Given the description of an element on the screen output the (x, y) to click on. 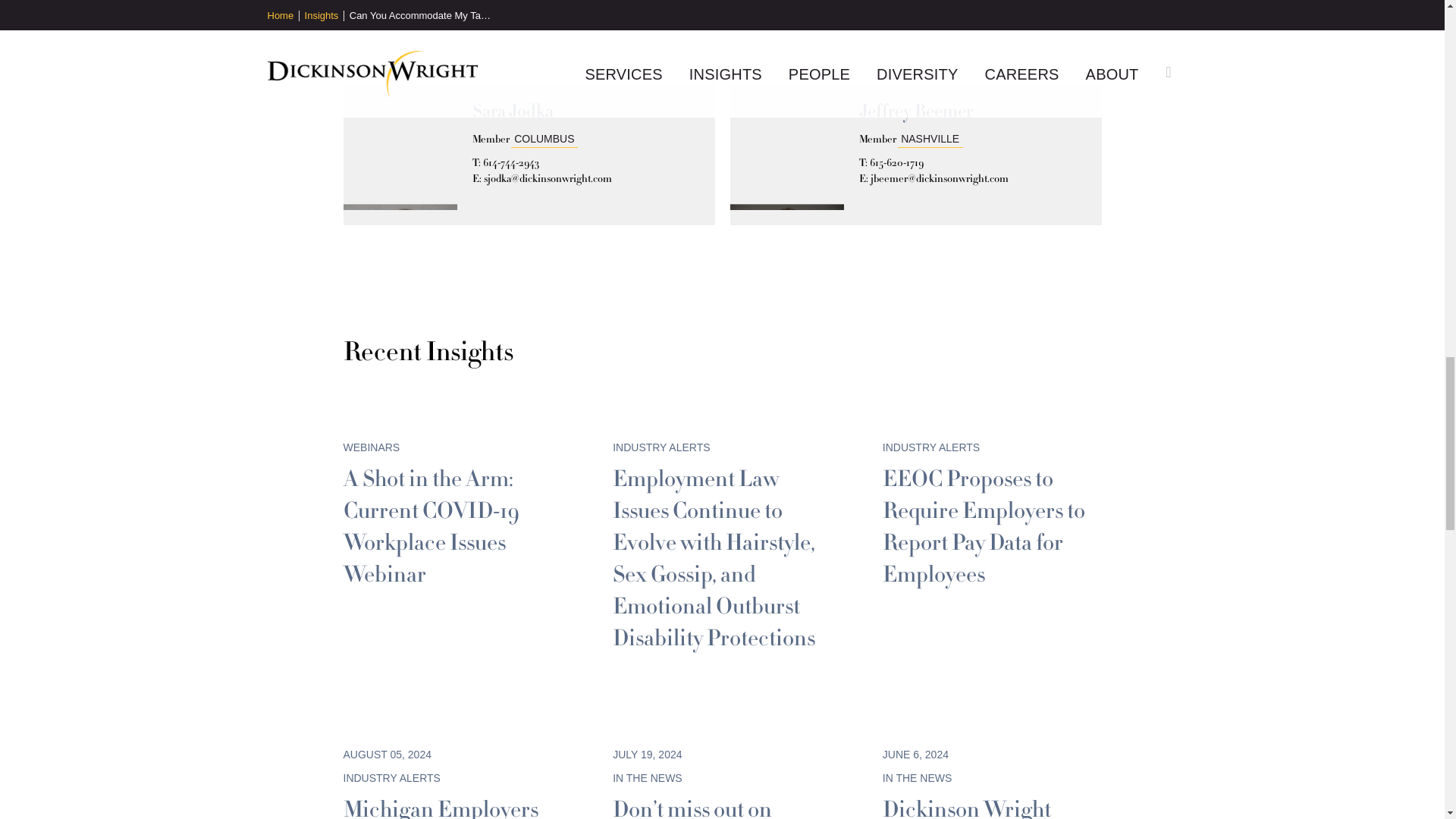
Sara Jodka (512, 110)
615-620-1719 (895, 162)
Jeffrey Beemer (915, 110)
NASHVILLE (930, 137)
614-744-2943 (510, 162)
COLUMBUS (544, 137)
